Given the description of an element on the screen output the (x, y) to click on. 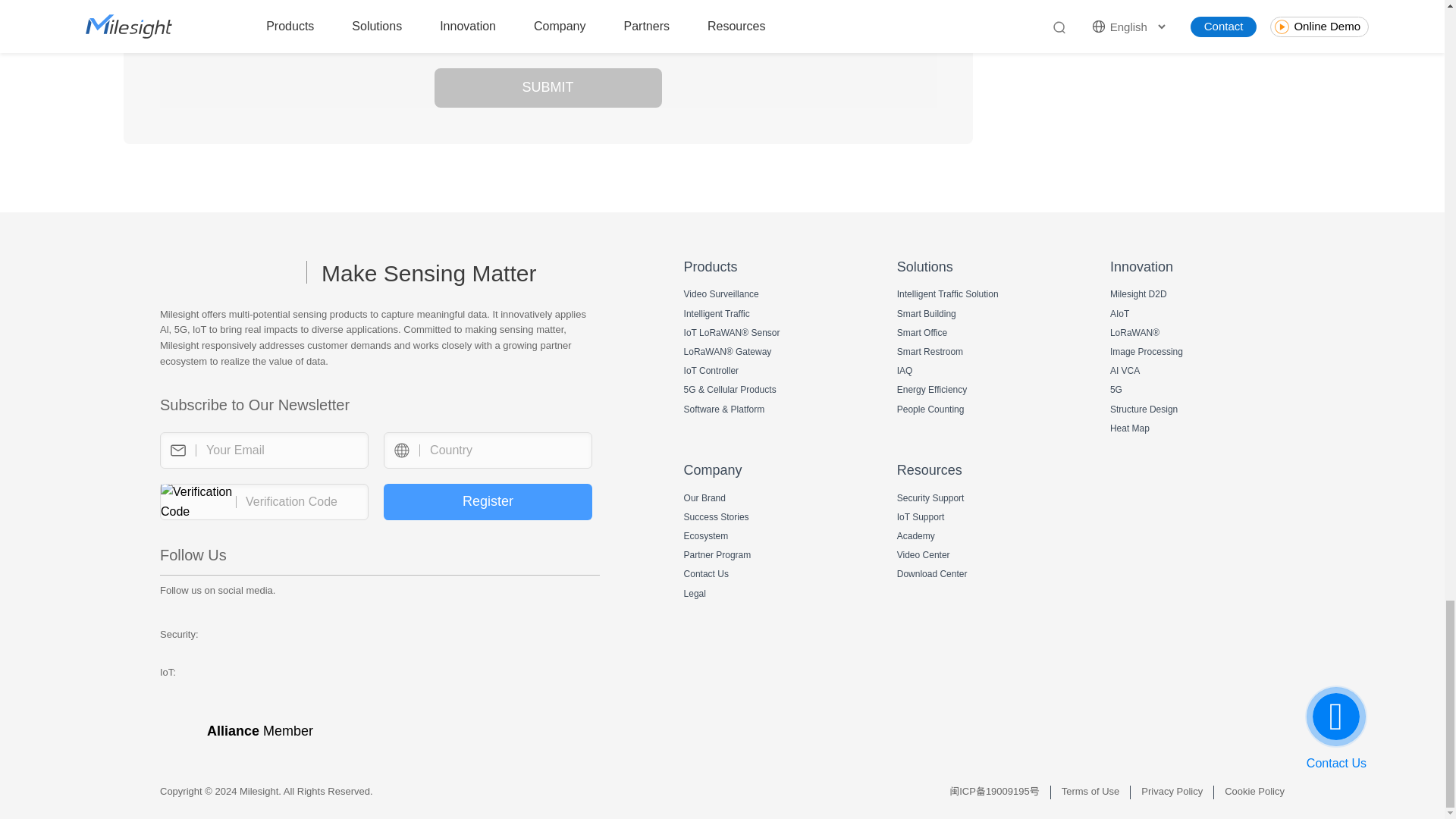
SUBMIT (547, 87)
